Given the description of an element on the screen output the (x, y) to click on. 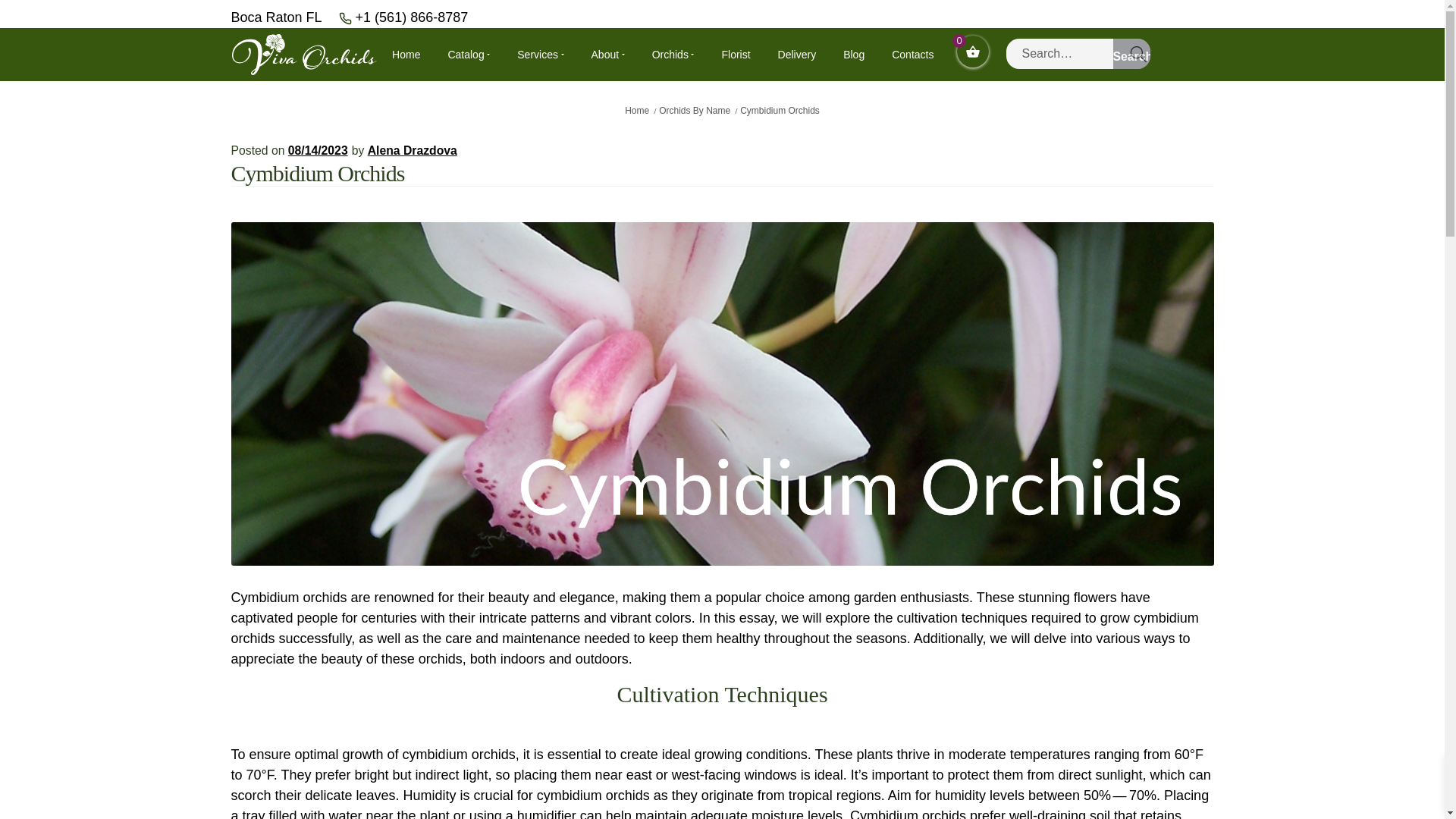
Contacts (912, 54)
Viva Orchids of Boca Raton (303, 53)
Florist (734, 54)
Viva Orchids of Boca Raton (303, 53)
Home (405, 54)
Delivery (796, 54)
Catalog (467, 54)
About (607, 54)
Services (539, 54)
Orchids (673, 54)
Blog (853, 54)
